Given the description of an element on the screen output the (x, y) to click on. 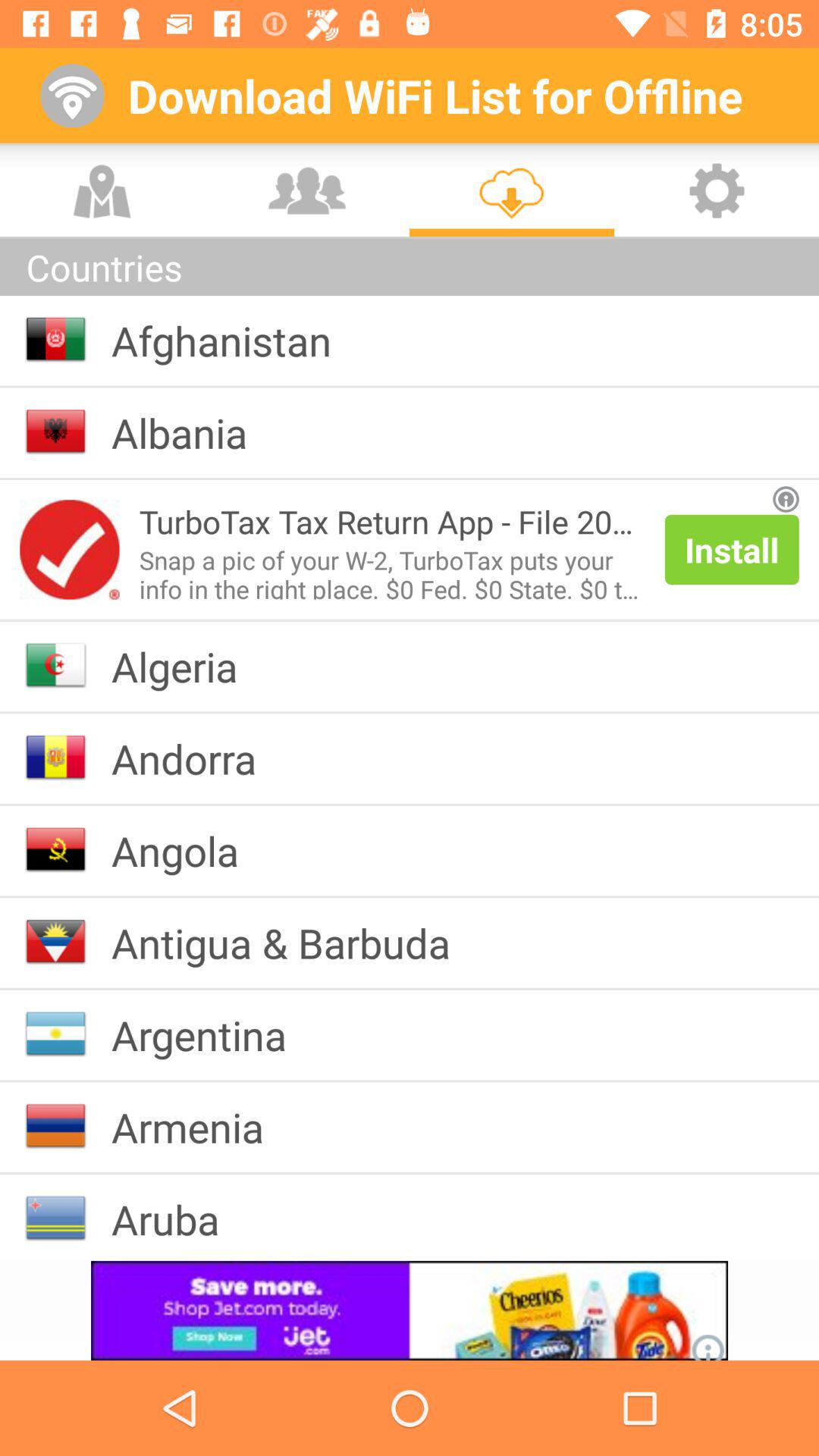
turn off icon above the aruba icon (199, 1126)
